Given the description of an element on the screen output the (x, y) to click on. 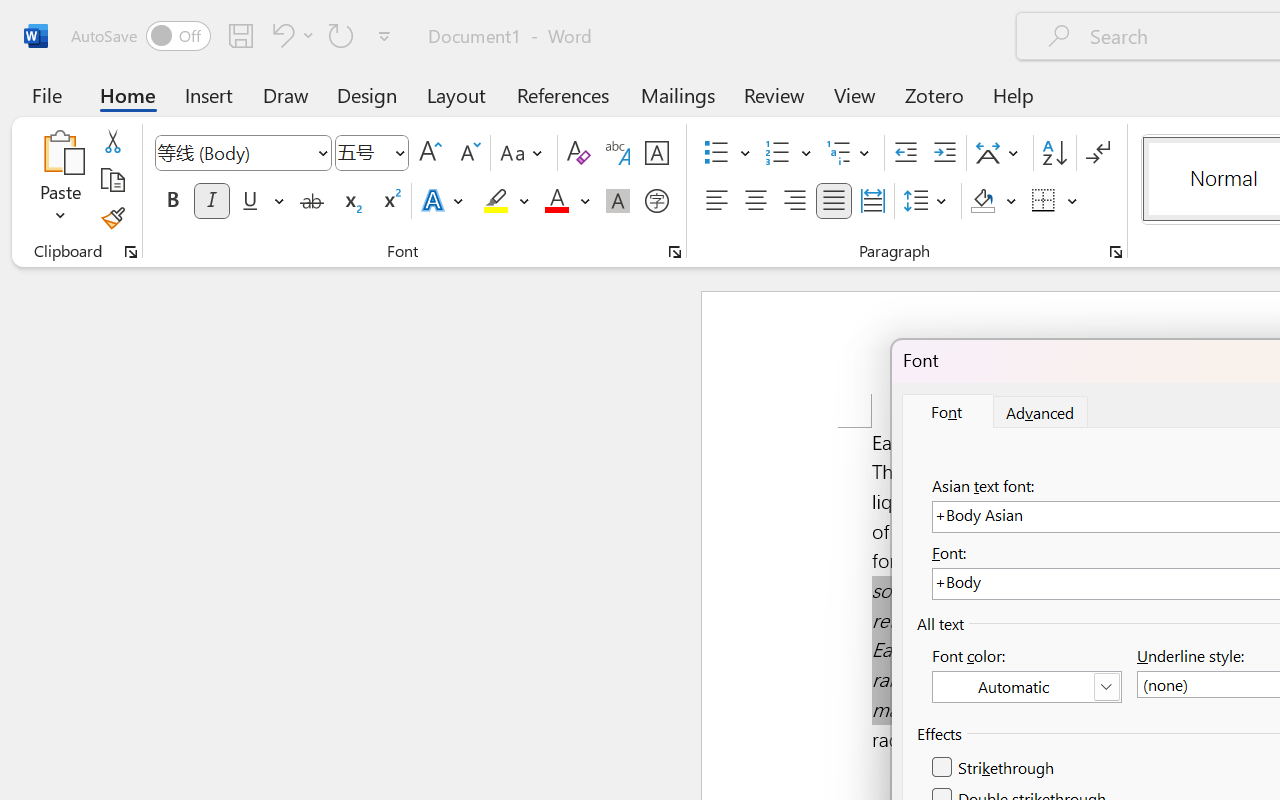
Undo Italic (290, 35)
Undo Italic (280, 35)
Paragraph... (1115, 252)
Character Border (656, 153)
Align Left (716, 201)
Copy (112, 179)
Text Effects and Typography (444, 201)
Clear Formatting (578, 153)
Font Color (567, 201)
